Given the description of an element on the screen output the (x, y) to click on. 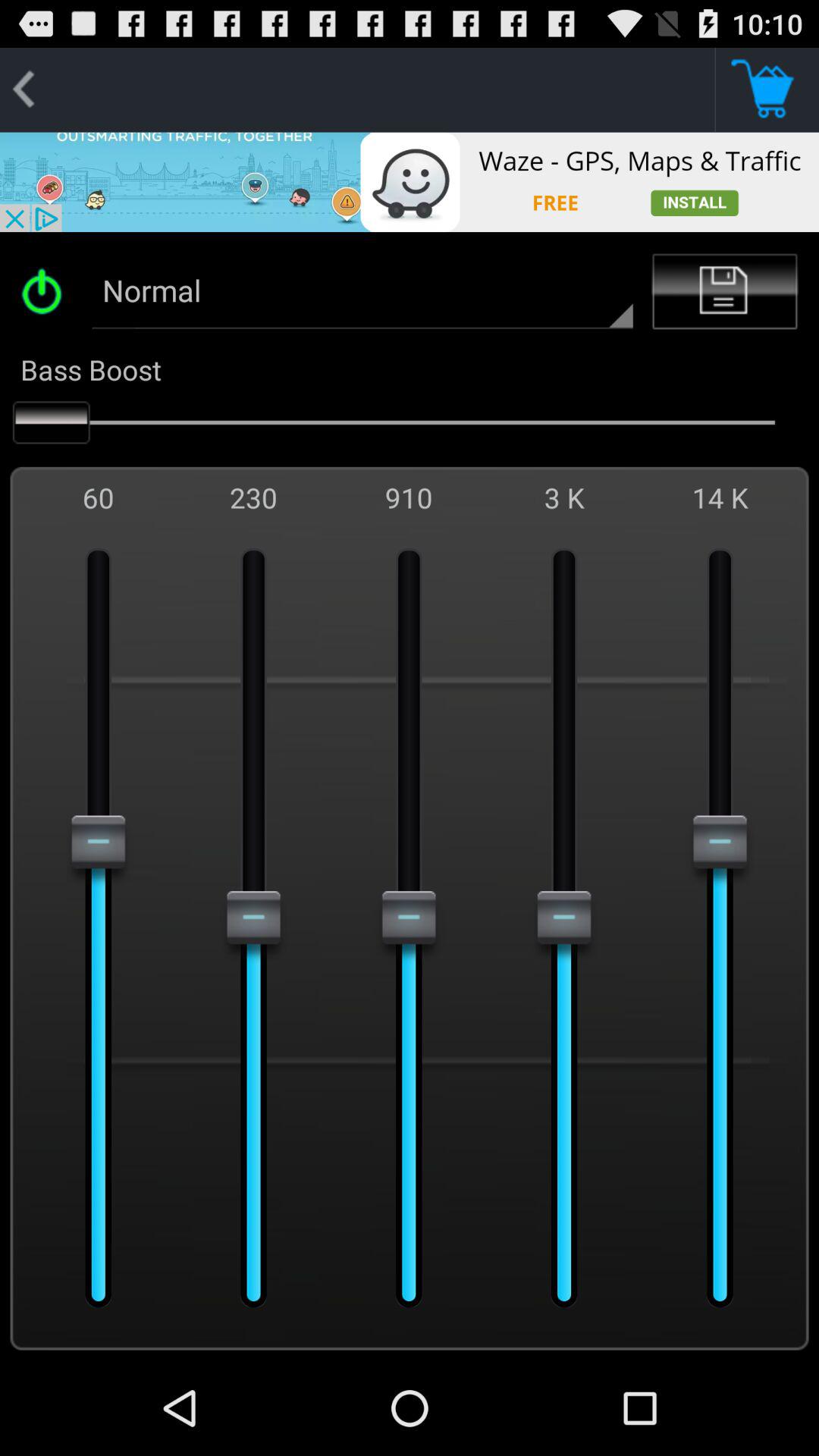
cart (767, 89)
